Given the description of an element on the screen output the (x, y) to click on. 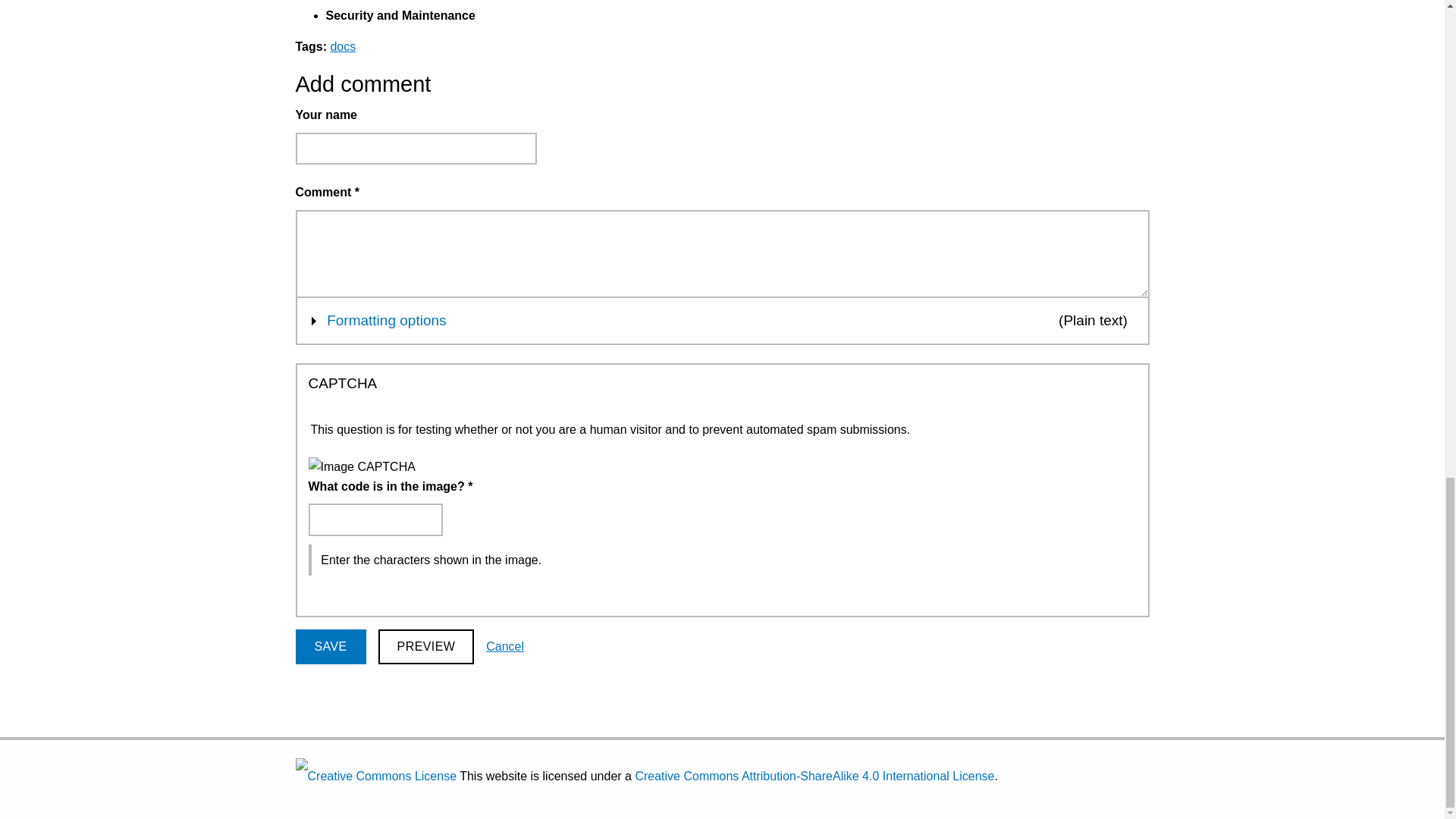
Save (330, 646)
Preview (426, 646)
docs (342, 46)
Cancel (715, 320)
Preview (505, 645)
Image CAPTCHA (426, 646)
Save (360, 466)
